Given the description of an element on the screen output the (x, y) to click on. 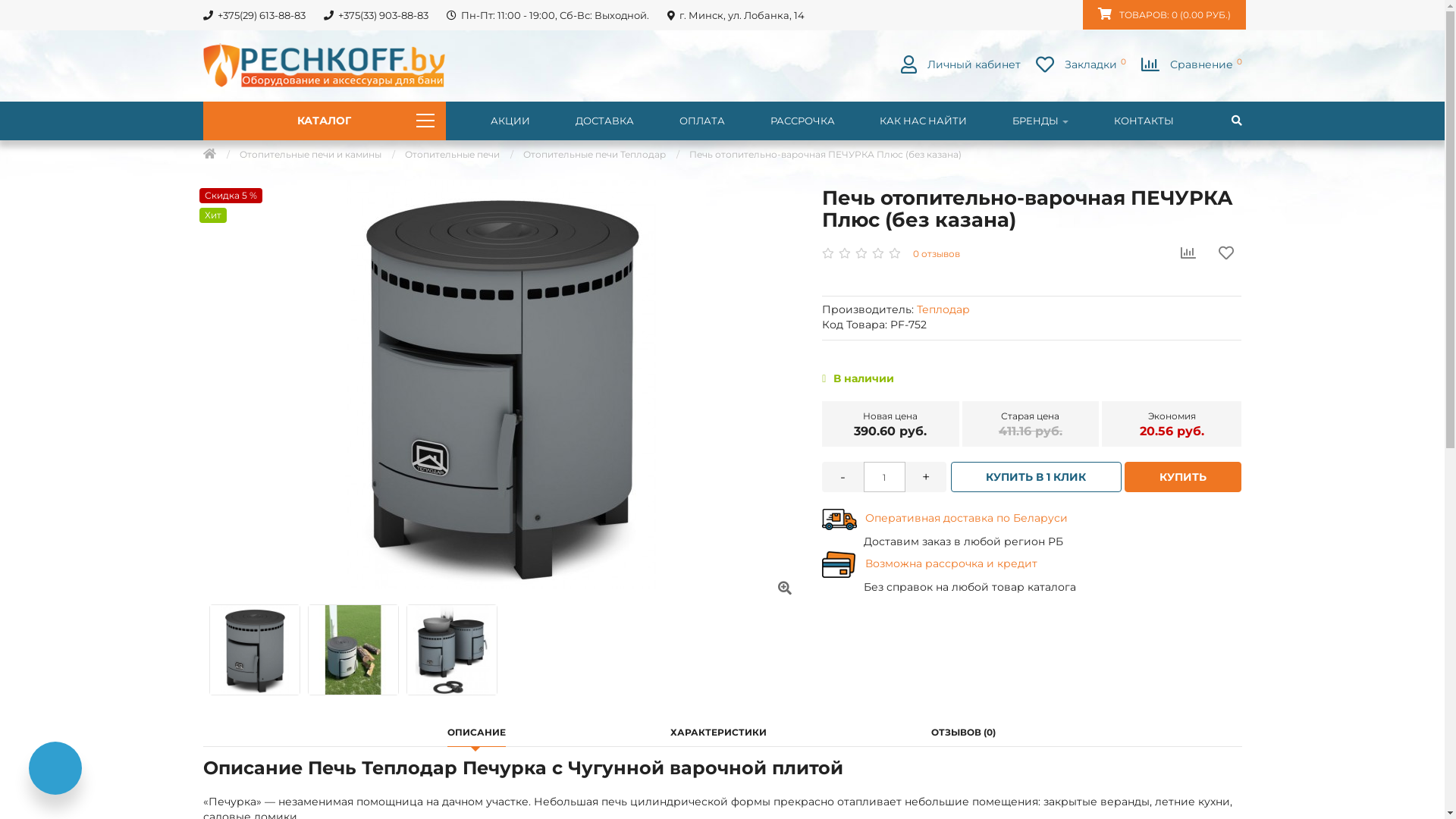
+375(29) 613-88-83 Element type: text (253, 14)
+375(33) 903-88-83 Element type: text (376, 14)
